Given the description of an element on the screen output the (x, y) to click on. 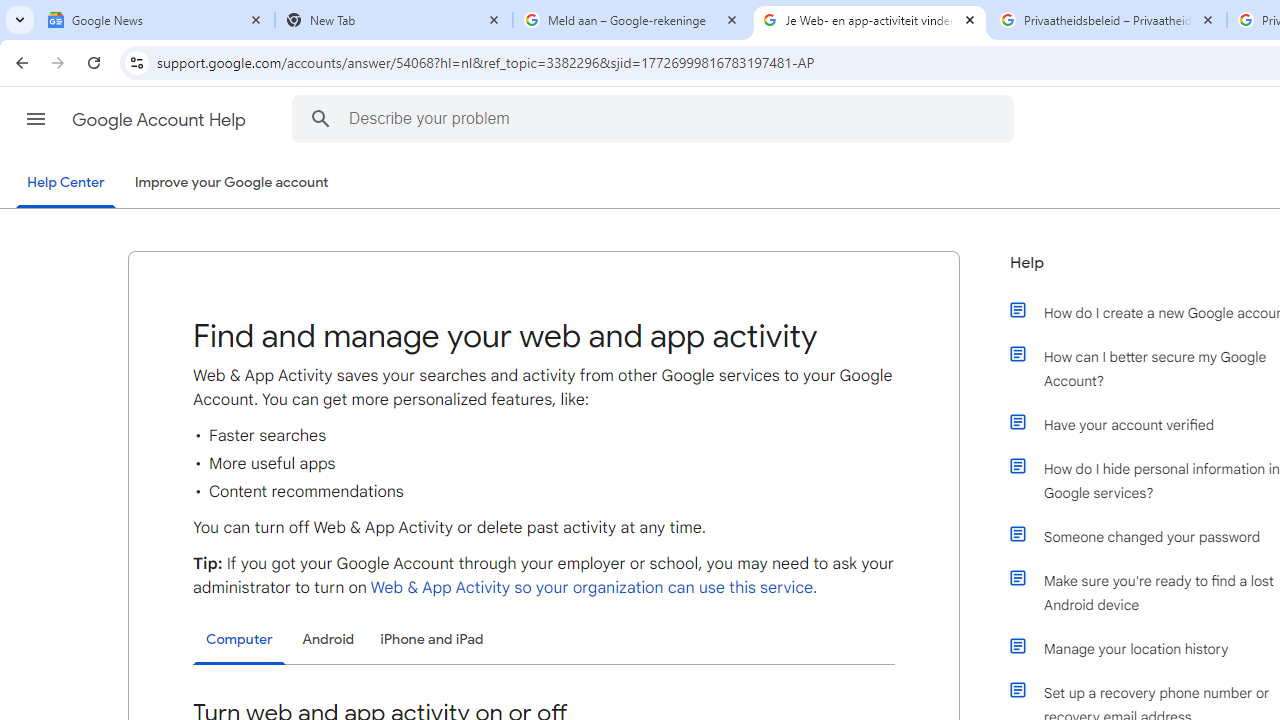
Improve your Google account (231, 183)
Describe your problem (655, 118)
New Tab (394, 20)
Google News (156, 20)
Android (328, 639)
